Given the description of an element on the screen output the (x, y) to click on. 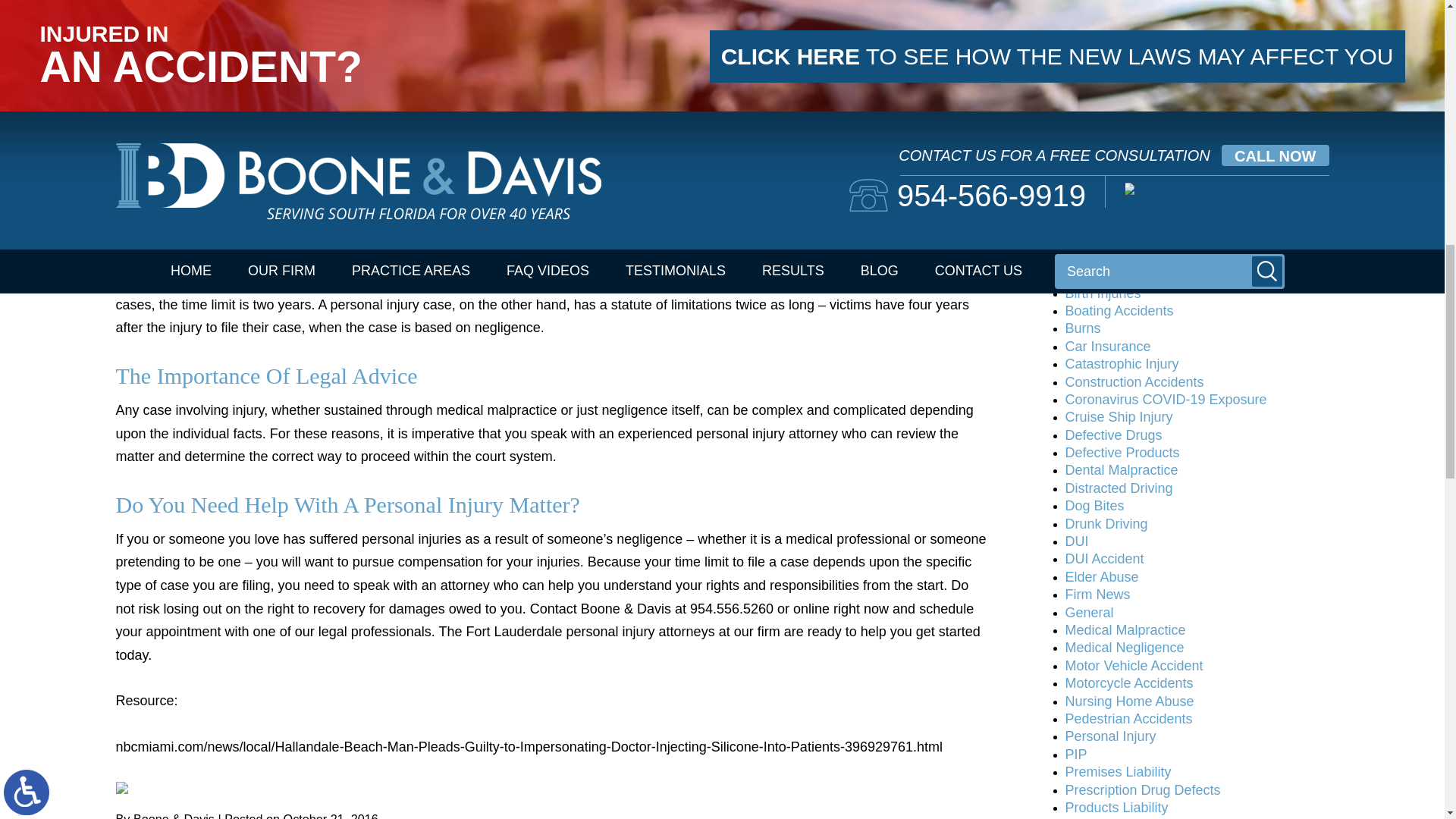
LinkedIn (142, 787)
Facebook (121, 787)
2016-10-21T06:15:50-0700 (330, 815)
Twitter (131, 787)
